Given the description of an element on the screen output the (x, y) to click on. 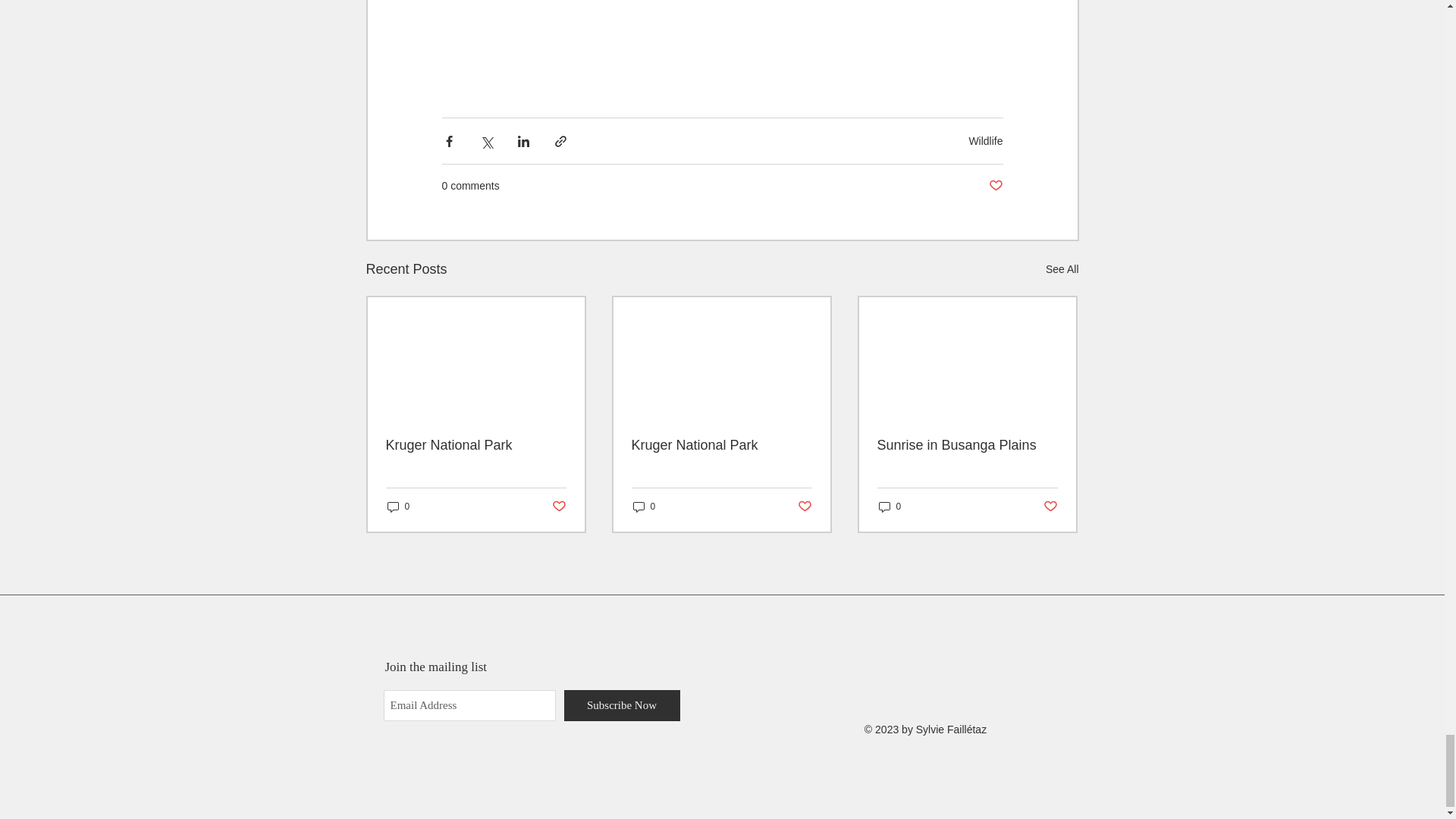
Kruger National Park (475, 445)
Wildlife (985, 141)
Subscribe Now (621, 705)
See All (1061, 269)
0 (889, 506)
0 (643, 506)
0 (397, 506)
Post not marked as liked (804, 506)
Sunrise in Busanga Plains (966, 445)
Kruger National Park (720, 445)
Post not marked as liked (1050, 506)
Post not marked as liked (558, 506)
Post not marked as liked (995, 186)
